Given the description of an element on the screen output the (x, y) to click on. 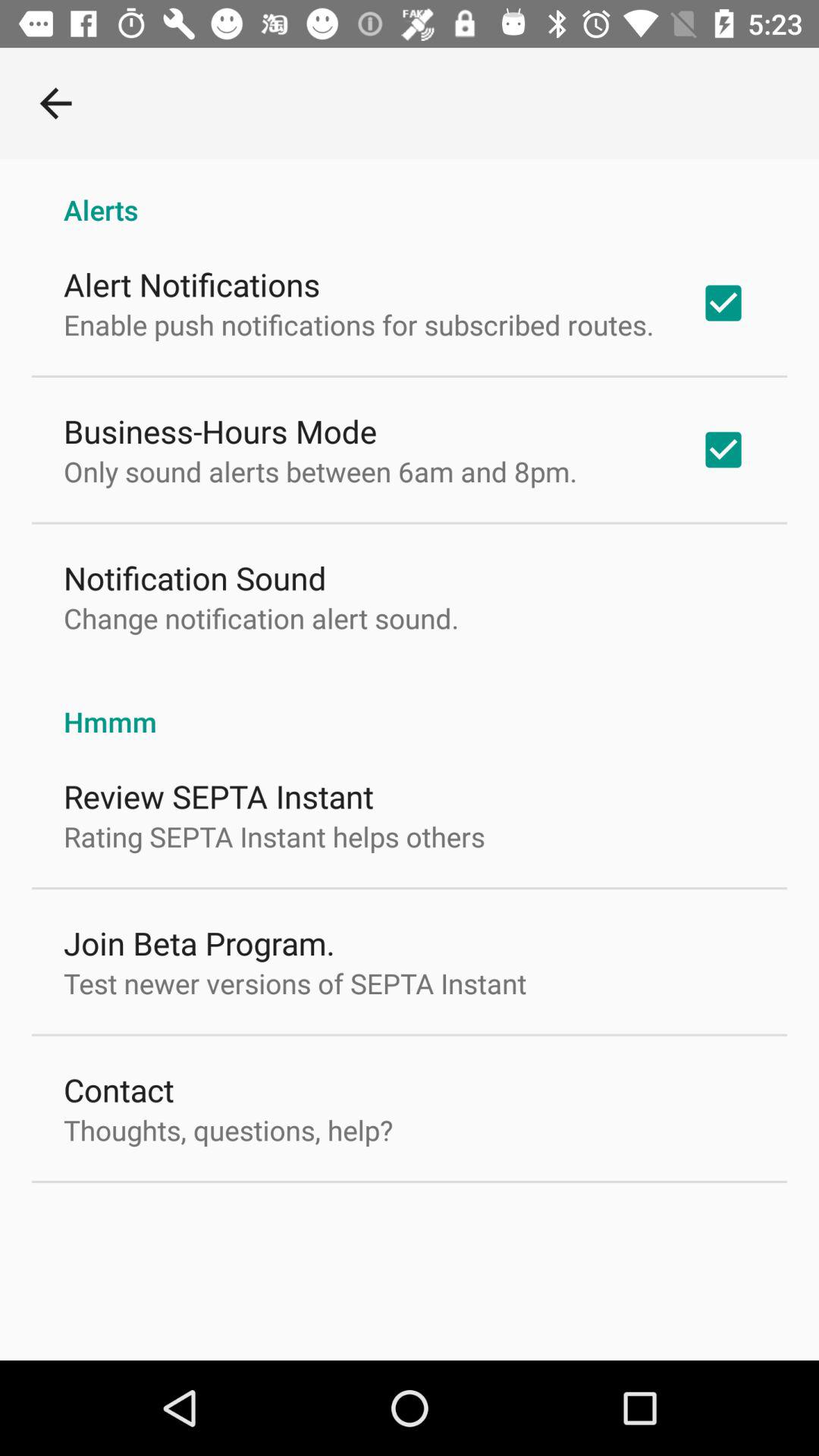
scroll until the business-hours mode icon (220, 430)
